Given the description of an element on the screen output the (x, y) to click on. 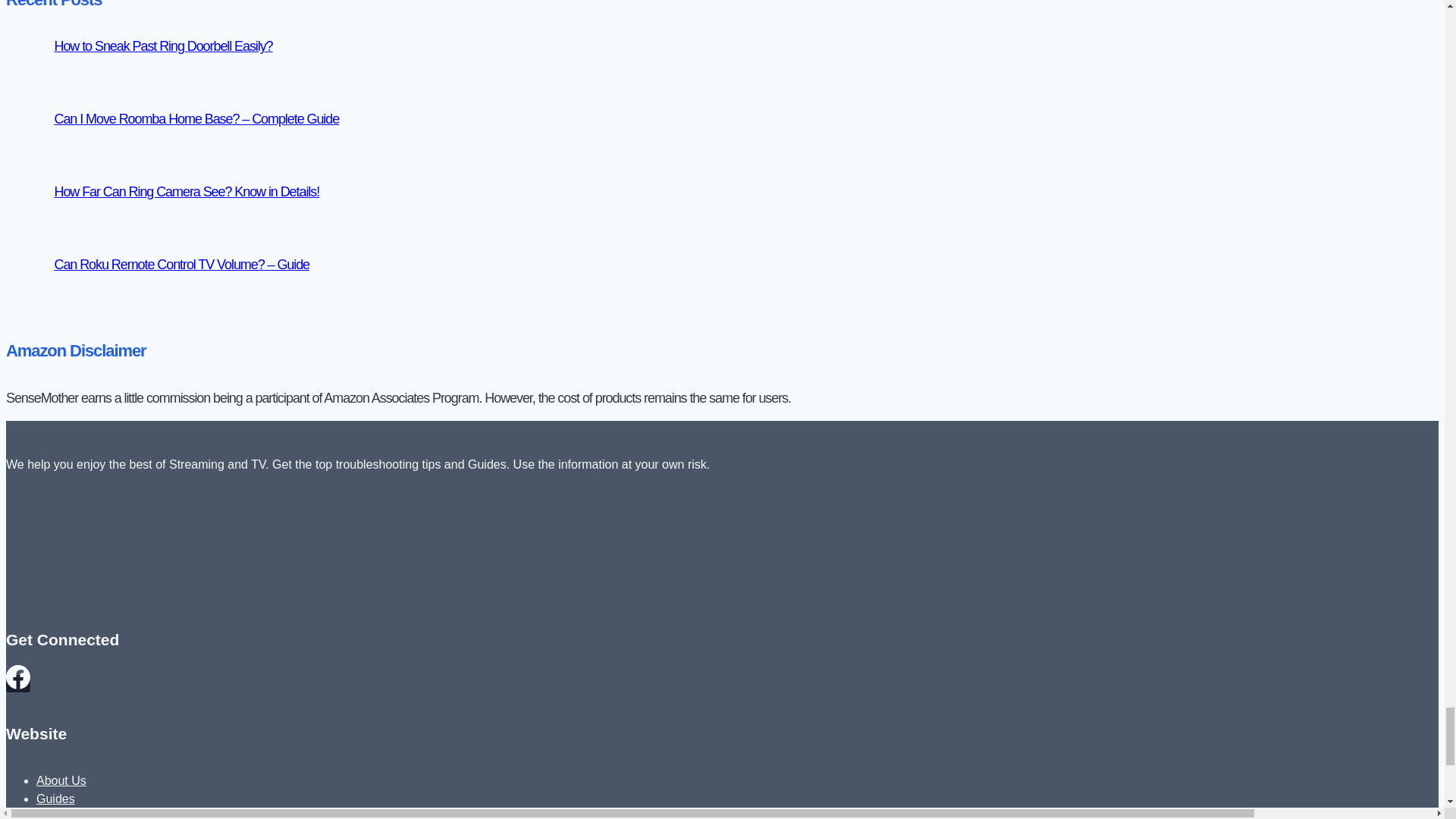
About Us (60, 780)
How to Sneak Past Ring Doorbell Easily? (164, 46)
Contact Us (66, 814)
How Far Can Ring Camera See? Know in Details! (187, 191)
Facebook (17, 677)
Facebook (17, 683)
Guides (55, 798)
